Given the description of an element on the screen output the (x, y) to click on. 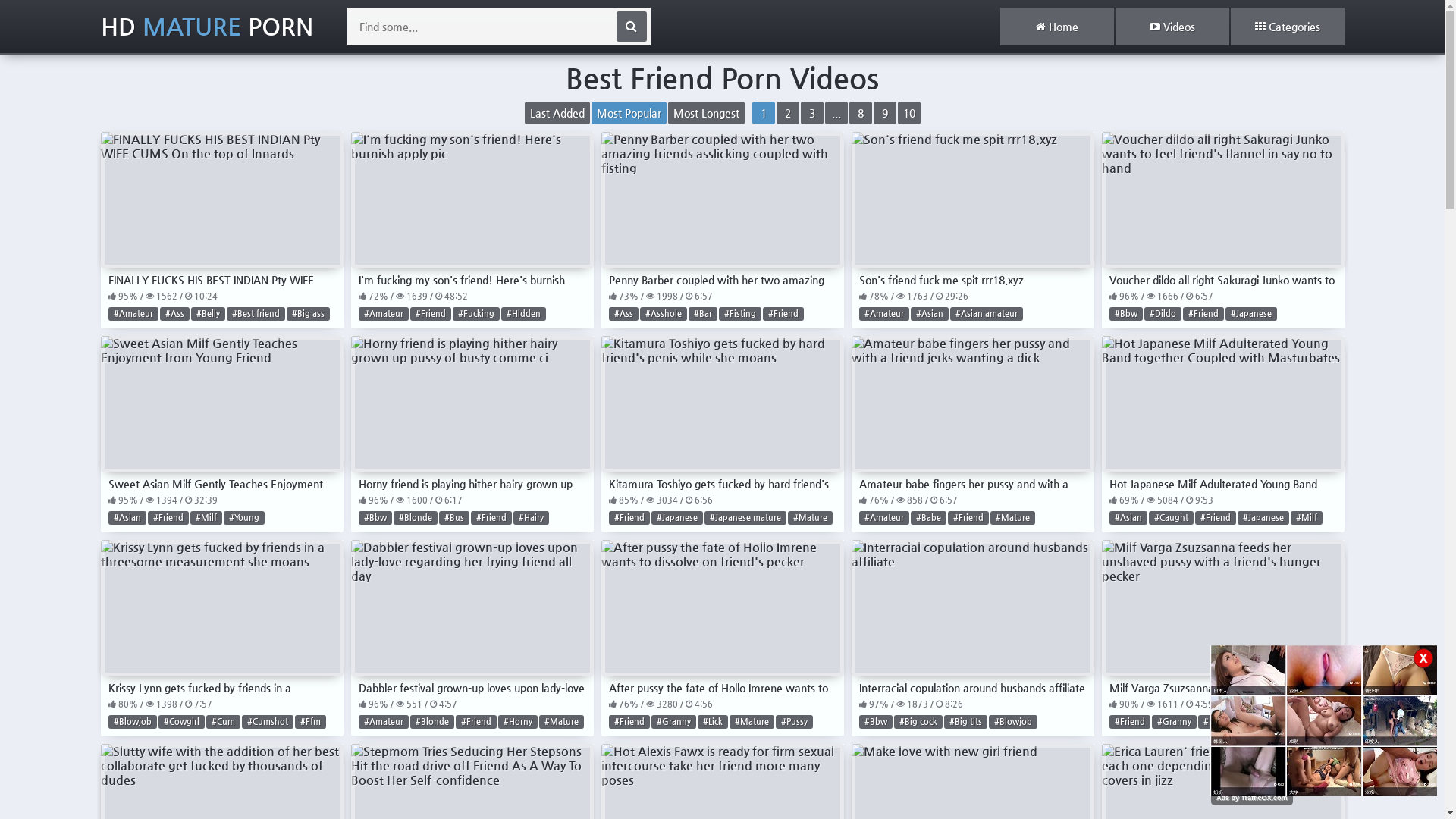
Videos Element type: text (1171, 26)
#Mature Element type: text (751, 721)
2 Element type: text (787, 112)
#Friend Element type: text (475, 721)
#Hidden Element type: text (522, 313)
#Bbw Element type: text (874, 721)
3 Element type: text (811, 112)
9 Element type: text (884, 112)
#Ffm Element type: text (309, 721)
#Hairy Element type: text (530, 517)
Son's friend fuck me spit rrr18.xyz Element type: text (971, 209)
#Asian Element type: text (1127, 517)
#Granny Element type: text (672, 721)
#Best friend Element type: text (254, 313)
I'm fucking my son's friend! Here's burnish apply pic Element type: text (471, 209)
#Big ass Element type: text (307, 313)
10 Element type: text (908, 112)
1 Element type: text (763, 112)
#Ass Element type: text (173, 313)
Ads by TrafficOX.com Element type: text (1251, 797)
#Granny Element type: text (1173, 721)
#Young Element type: text (242, 517)
#Blowjob Element type: text (131, 721)
#Bus Element type: text (453, 517)
#Friend Element type: text (782, 313)
#Friend Element type: text (628, 721)
#Mature Element type: text (809, 517)
#Mature Element type: text (560, 721)
#Blonde Element type: text (414, 517)
#Big cock Element type: text (917, 721)
#Pussy Element type: text (793, 721)
#Pussy Element type: text (1295, 721)
#Friend Element type: text (1203, 313)
#Japanese Element type: text (1263, 517)
#Asian Element type: text (928, 313)
#Belly Element type: text (208, 313)
Most Popular Element type: text (628, 112)
#Lick Element type: text (712, 721)
#Amateur Element type: text (132, 313)
#Cum Element type: text (223, 721)
HD MATURE PORN Element type: text (206, 26)
#Milf Element type: text (1306, 517)
#Mature Element type: text (1012, 517)
#Amateur Element type: text (382, 313)
XajHLhsearch Element type: hover (630, 26)
Sweet Asian Milf Gently Teaches Enjoyment from Young Friend Element type: text (221, 413)
#Ass Element type: text (622, 313)
#Big tits Element type: text (964, 721)
Most Longest Element type: text (705, 112)
#Mature Element type: text (1220, 721)
#Dildo Element type: text (1161, 313)
#Japanese mature Element type: text (744, 517)
#Blonde Element type: text (431, 721)
#Friend Element type: text (1128, 721)
8 Element type: text (860, 112)
#Blowjob Element type: text (1012, 721)
Interracial copulation around husbands affiliate Element type: text (971, 617)
#Amateur Element type: text (883, 313)
#Milf Element type: text (205, 517)
#Bbw Element type: text (1125, 313)
#Amateur Element type: text (883, 517)
#Fucking Element type: text (474, 313)
#Asian Element type: text (126, 517)
Home Element type: text (1056, 26)
#Friend Element type: text (429, 313)
Last Added Element type: text (556, 112)
#Cowgirl Element type: text (180, 721)
#Horny Element type: text (516, 721)
#Bbw Element type: text (374, 517)
#Bar Element type: text (702, 313)
#Friend Element type: text (167, 517)
#Asian amateur Element type: text (985, 313)
#Caught Element type: text (1170, 517)
#Asshole Element type: text (663, 313)
#Cumshot Element type: text (266, 721)
Categories Element type: text (1286, 26)
#Friend Element type: text (628, 517)
#Babe Element type: text (927, 517)
#Amateur Element type: text (382, 721)
#Japanese Element type: text (1251, 313)
#Friend Element type: text (967, 517)
#Friend Element type: text (490, 517)
#Fisting Element type: text (739, 313)
#Milf Element type: text (1259, 721)
#Japanese Element type: text (676, 517)
#Friend Element type: text (1215, 517)
